Given the description of an element on the screen output the (x, y) to click on. 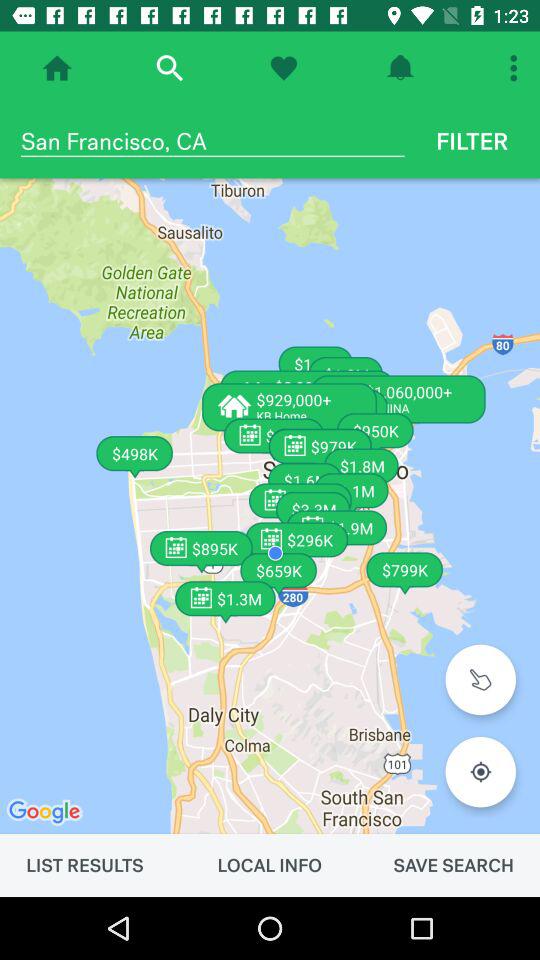
swipe to the filter (472, 141)
